Given the description of an element on the screen output the (x, y) to click on. 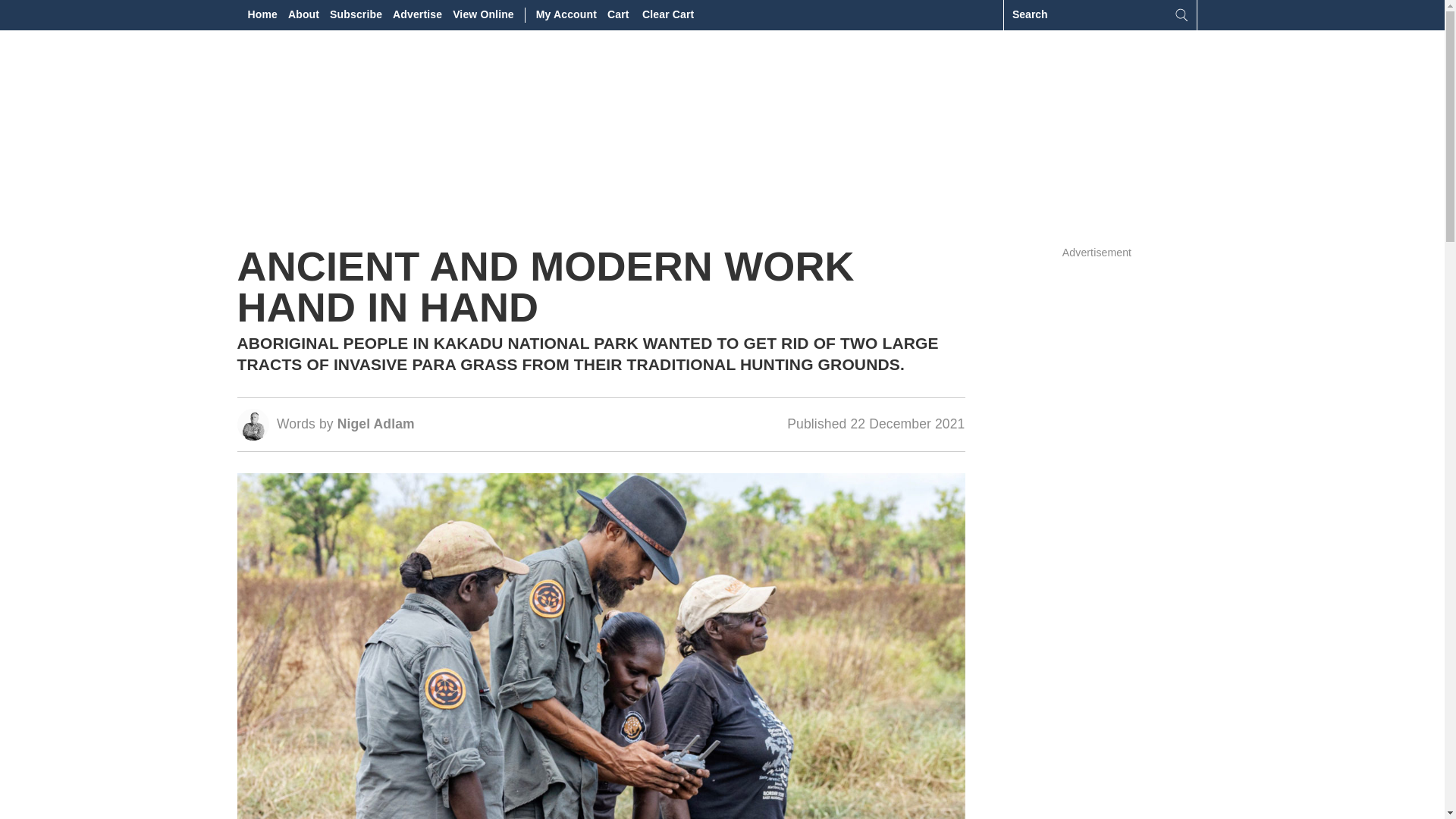
Advertise (417, 14)
Clear Cart (668, 14)
View Online (482, 14)
Cart (619, 14)
Submit (1181, 15)
Subscribe (355, 14)
About (303, 14)
My Account (565, 14)
Home (261, 14)
